Given the description of an element on the screen output the (x, y) to click on. 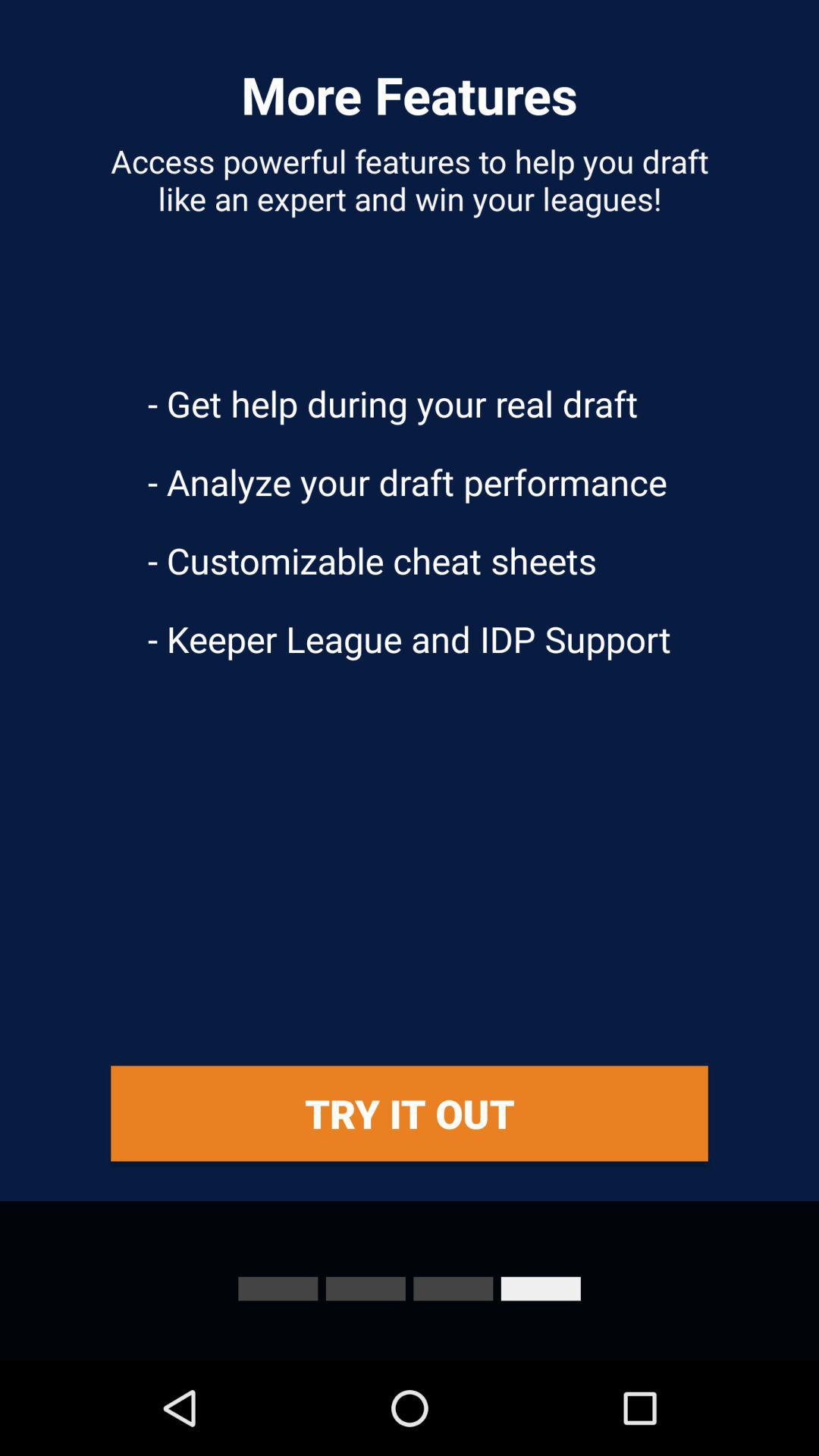
press the try it out icon (409, 1113)
